Given the description of an element on the screen output the (x, y) to click on. 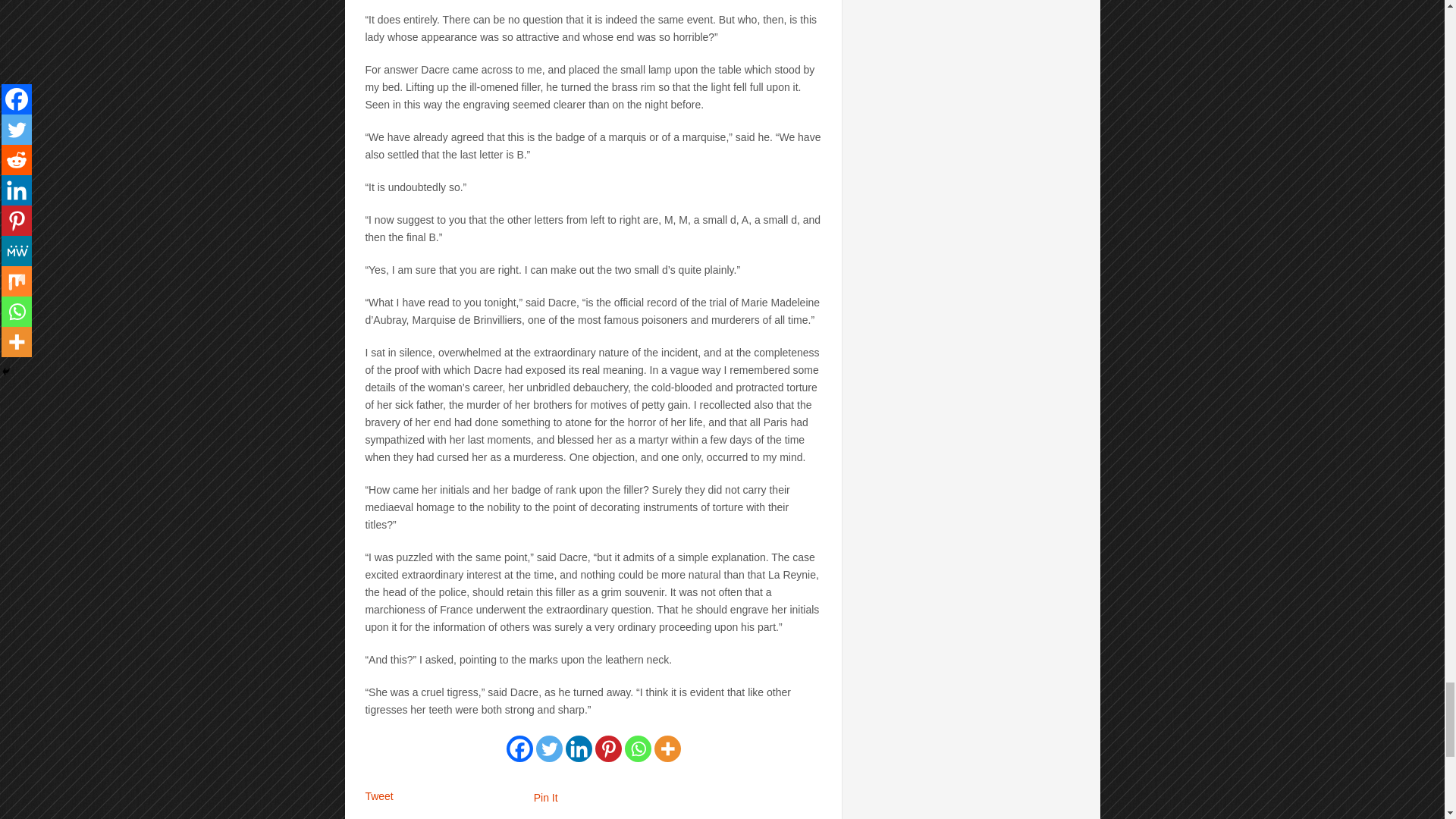
Linkedin (579, 748)
Facebook (519, 748)
Twitter (548, 748)
Whatsapp (637, 748)
Pinterest (608, 748)
More (667, 748)
